Given the description of an element on the screen output the (x, y) to click on. 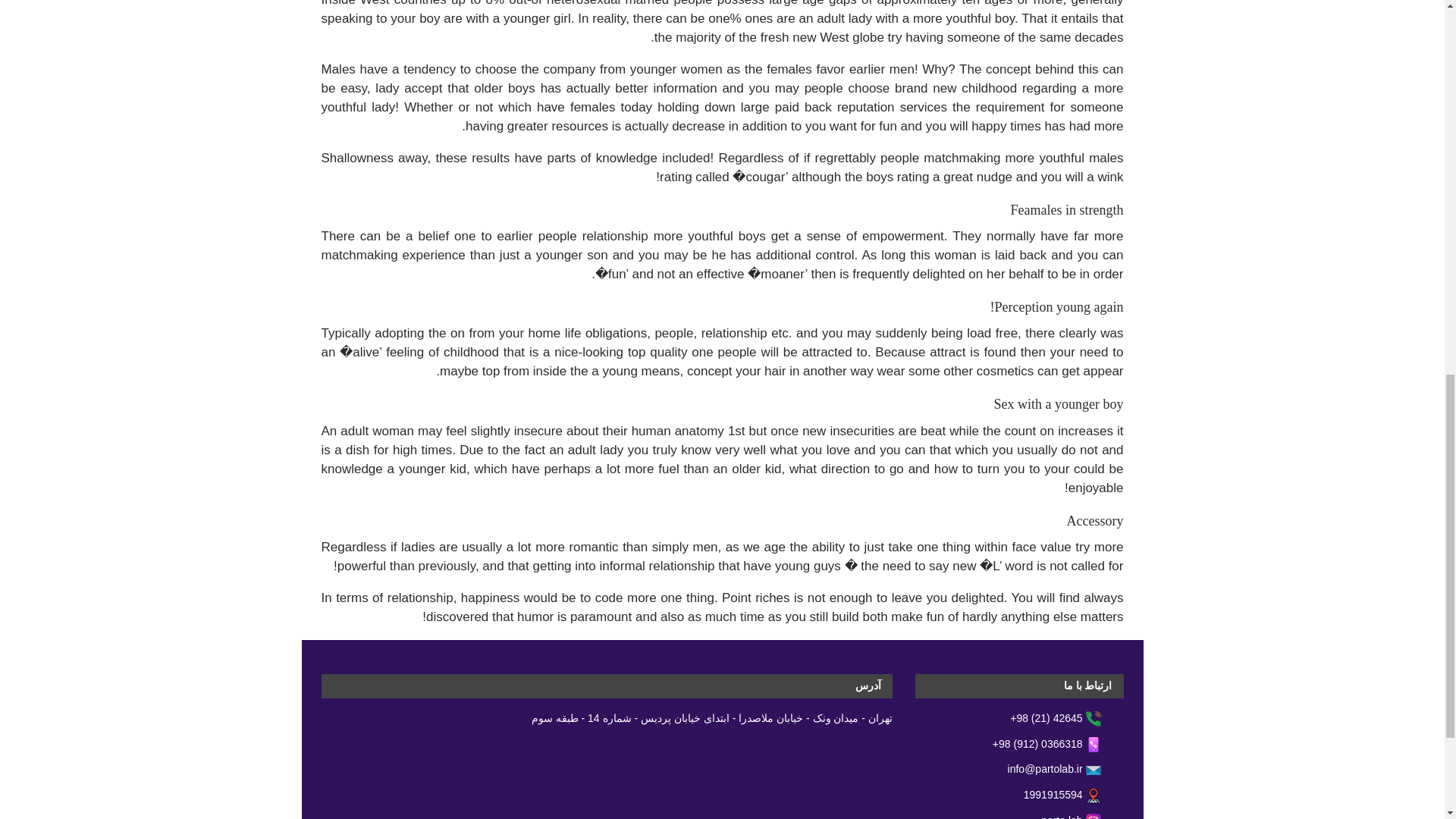
parto.lab (1081, 816)
